Given the description of an element on the screen output the (x, y) to click on. 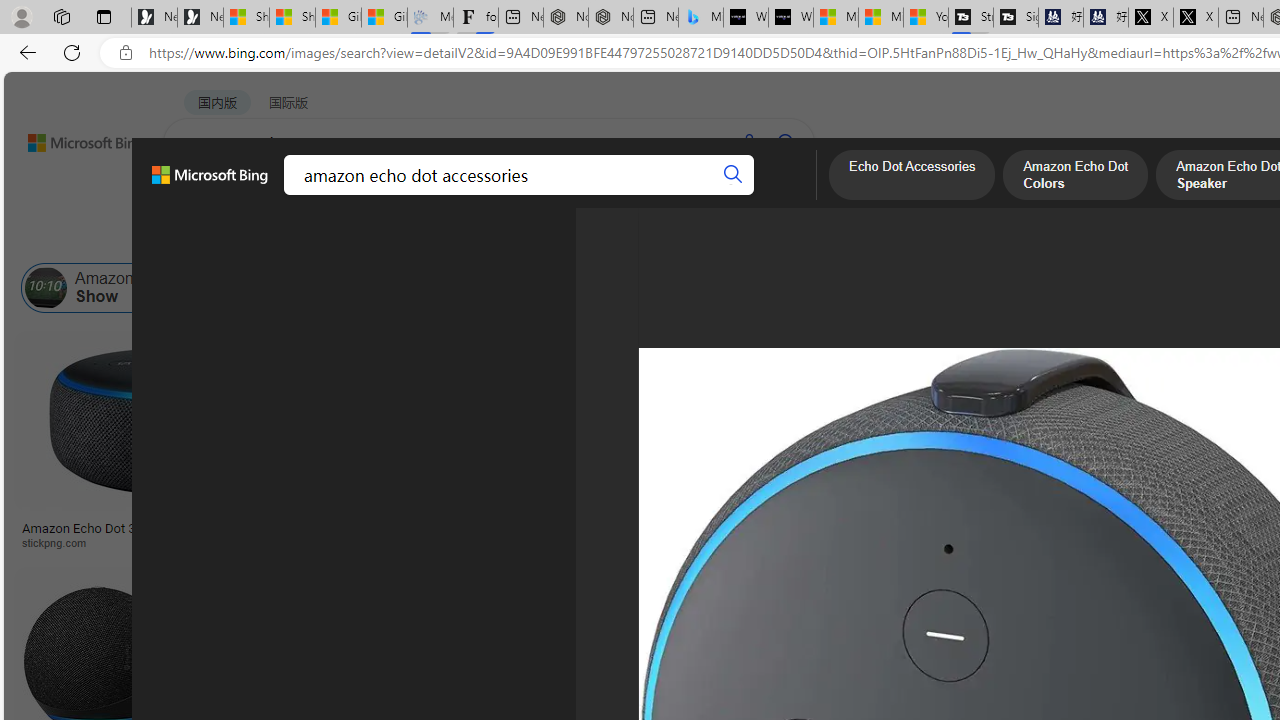
People (521, 237)
Amazon Echo Dot 3rd (651, 287)
Streaming Coverage | T3 (970, 17)
Image result for Amazon Echo Dot PNG (1185, 611)
Smart Speaker Alexa Echo Dot (995, 521)
Image size (221, 237)
Layout (443, 237)
X (1195, 17)
Echo Dot Accessories (456, 287)
License (665, 237)
